Given the description of an element on the screen output the (x, y) to click on. 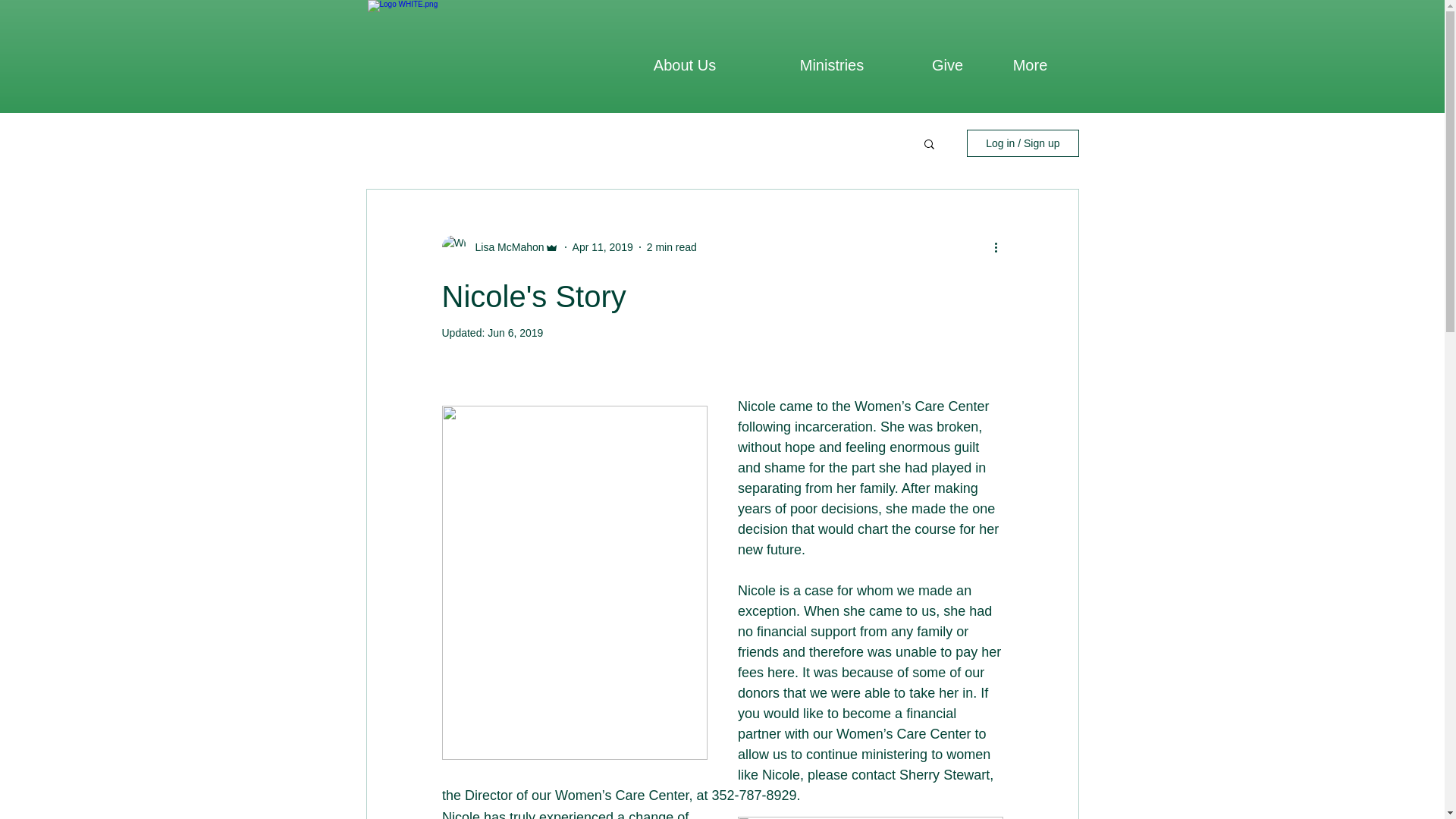
Lisa McMahon (504, 247)
2 min read (671, 246)
Apr 11, 2019 (602, 246)
Jun 6, 2019 (515, 332)
Give (946, 64)
